Given the description of an element on the screen output the (x, y) to click on. 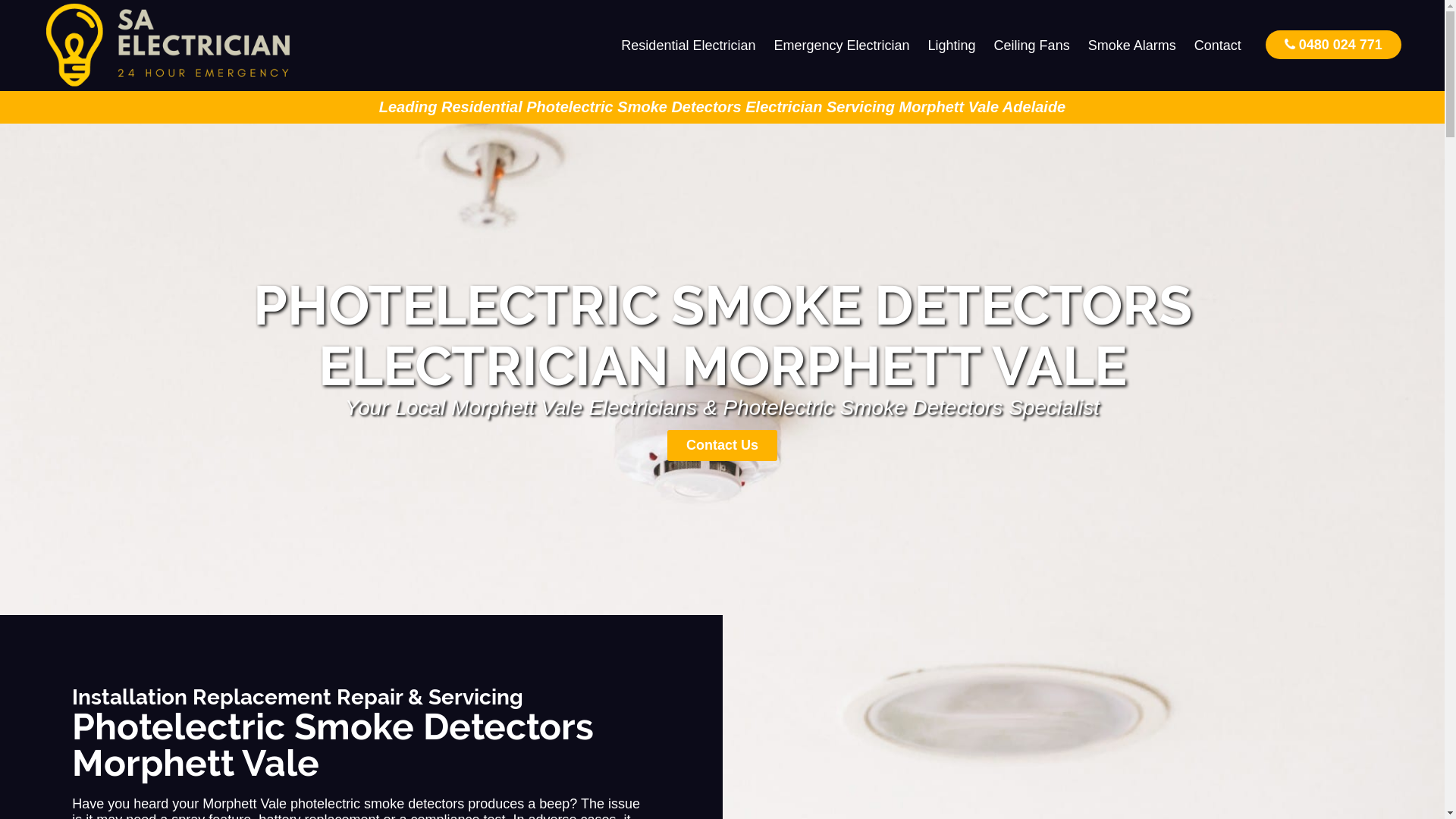
Residential Electrician Element type: text (687, 45)
Contact Element type: text (1217, 45)
Smoke Alarms Element type: text (1132, 45)
Lighting Element type: text (952, 45)
Contact Us Element type: text (722, 445)
0480 024 771 Element type: text (1333, 44)
Ceiling Fans Element type: text (1032, 45)
Emergency Electrician Element type: text (841, 45)
